Given the description of an element on the screen output the (x, y) to click on. 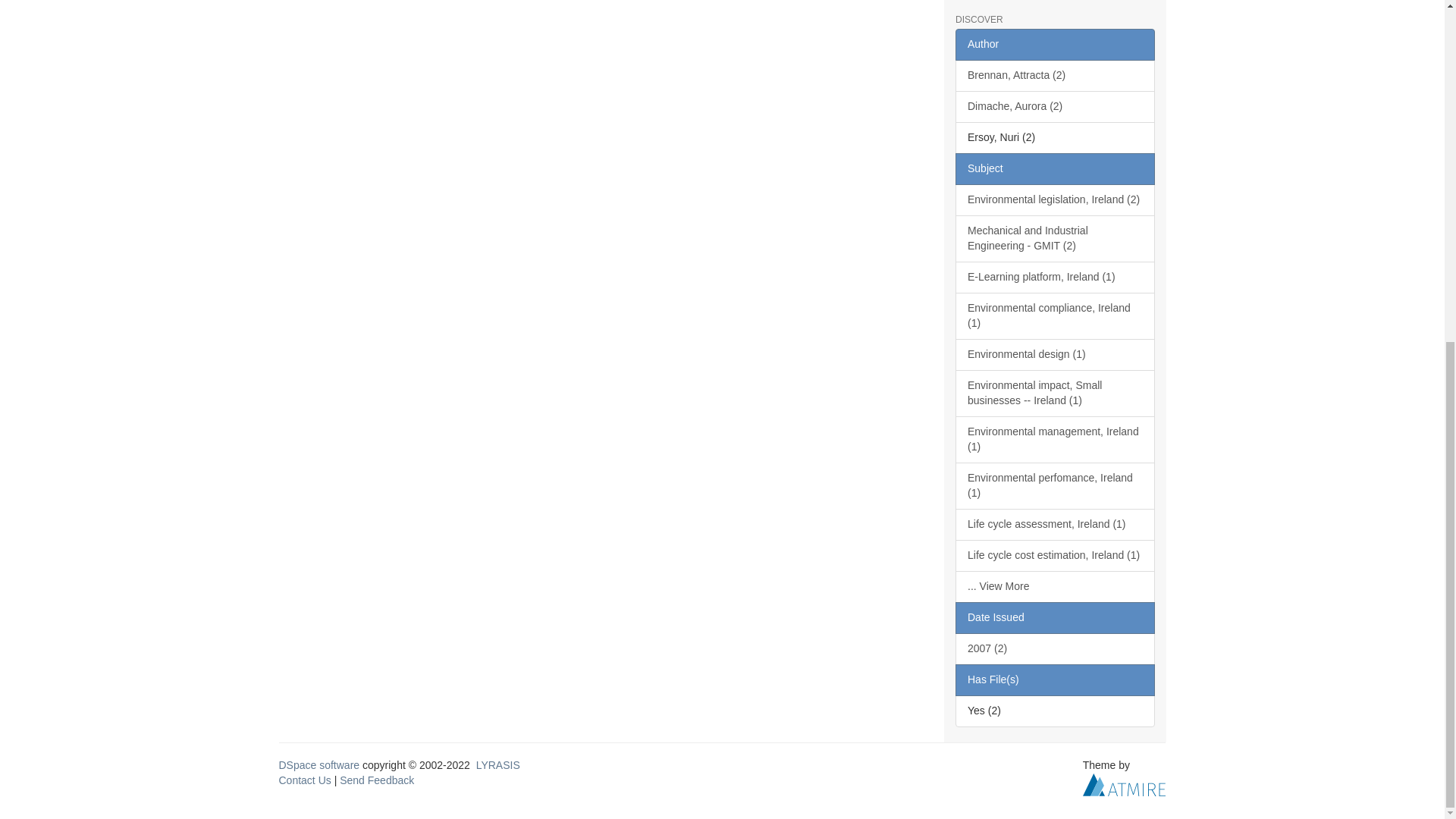
Atmire NV (1124, 784)
